Given the description of an element on the screen output the (x, y) to click on. 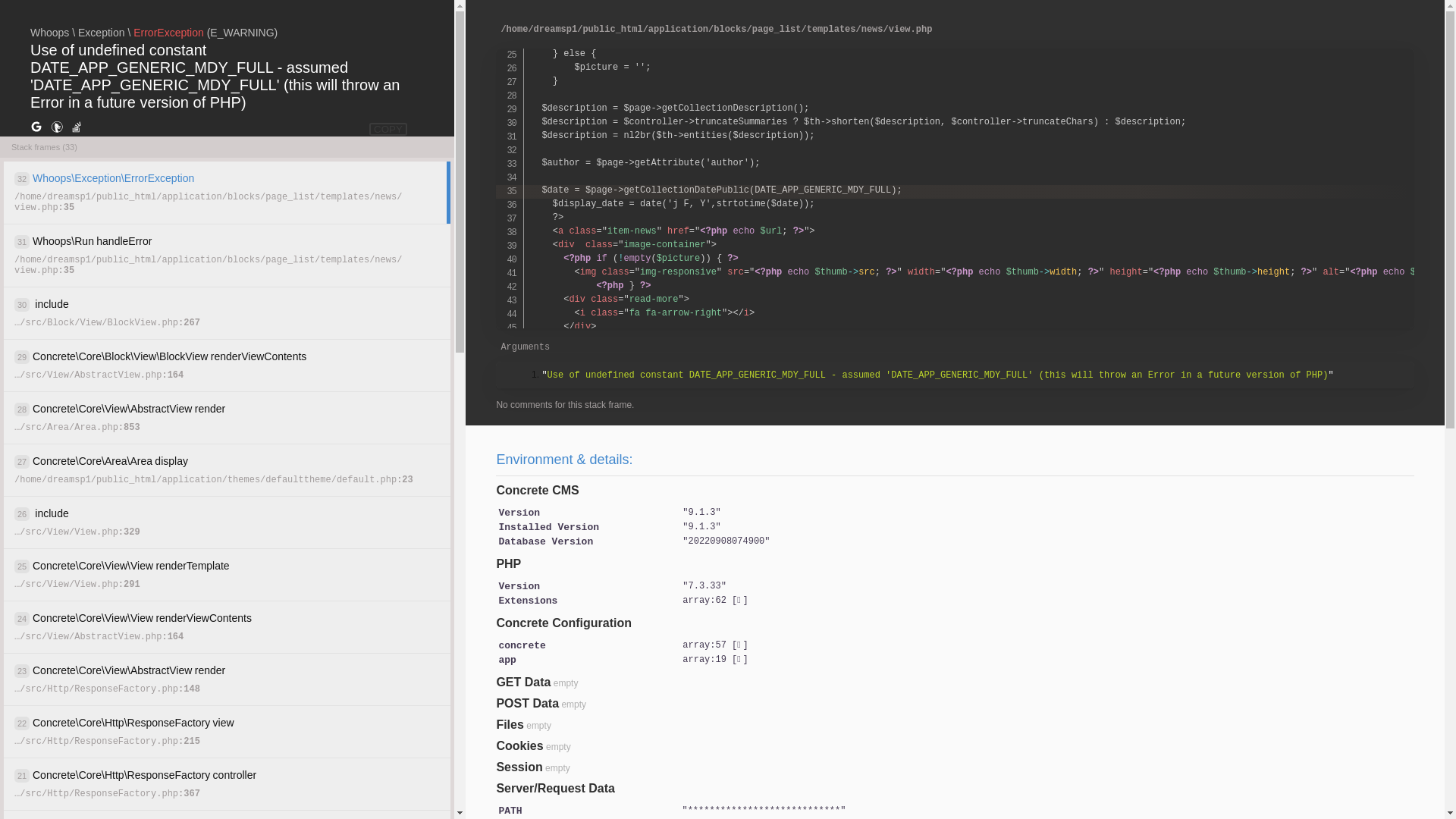
COPY Element type: text (388, 128)
Search for help on Google. Element type: hover (36, 127)
Search for help on Stack Overflow. Element type: hover (76, 127)
Search for help on DuckDuckGo. Element type: hover (56, 127)
